Given the description of an element on the screen output the (x, y) to click on. 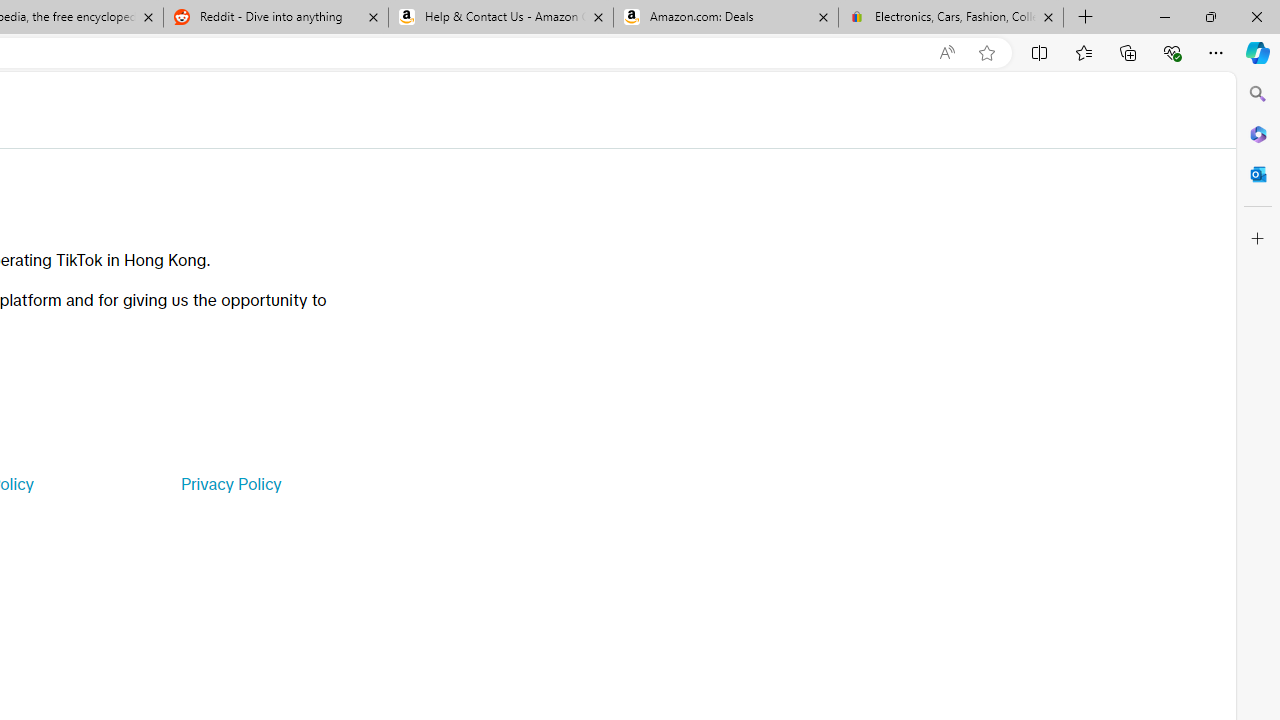
Help & Contact Us - Amazon Customer Service (501, 17)
Amazon.com: Deals (726, 17)
